Given the description of an element on the screen output the (x, y) to click on. 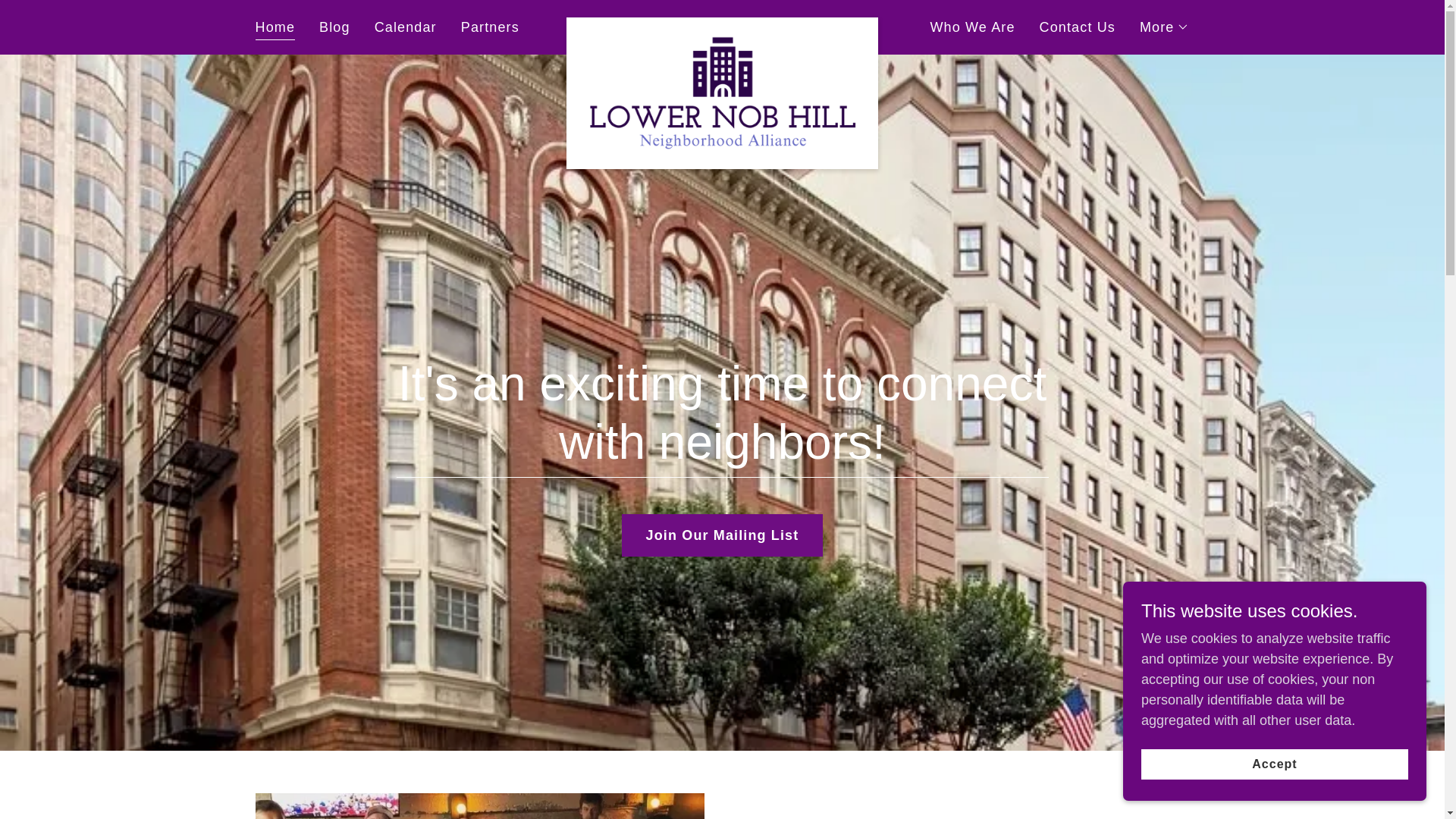
Who We Are (971, 26)
Calendar (405, 26)
Lower Nob Hill Neighborhood Alliance (721, 24)
Partners (490, 26)
More (1164, 27)
Blog (334, 26)
Join Our Mailing List (722, 535)
Contact Us (1077, 26)
Home (274, 29)
